Given the description of an element on the screen output the (x, y) to click on. 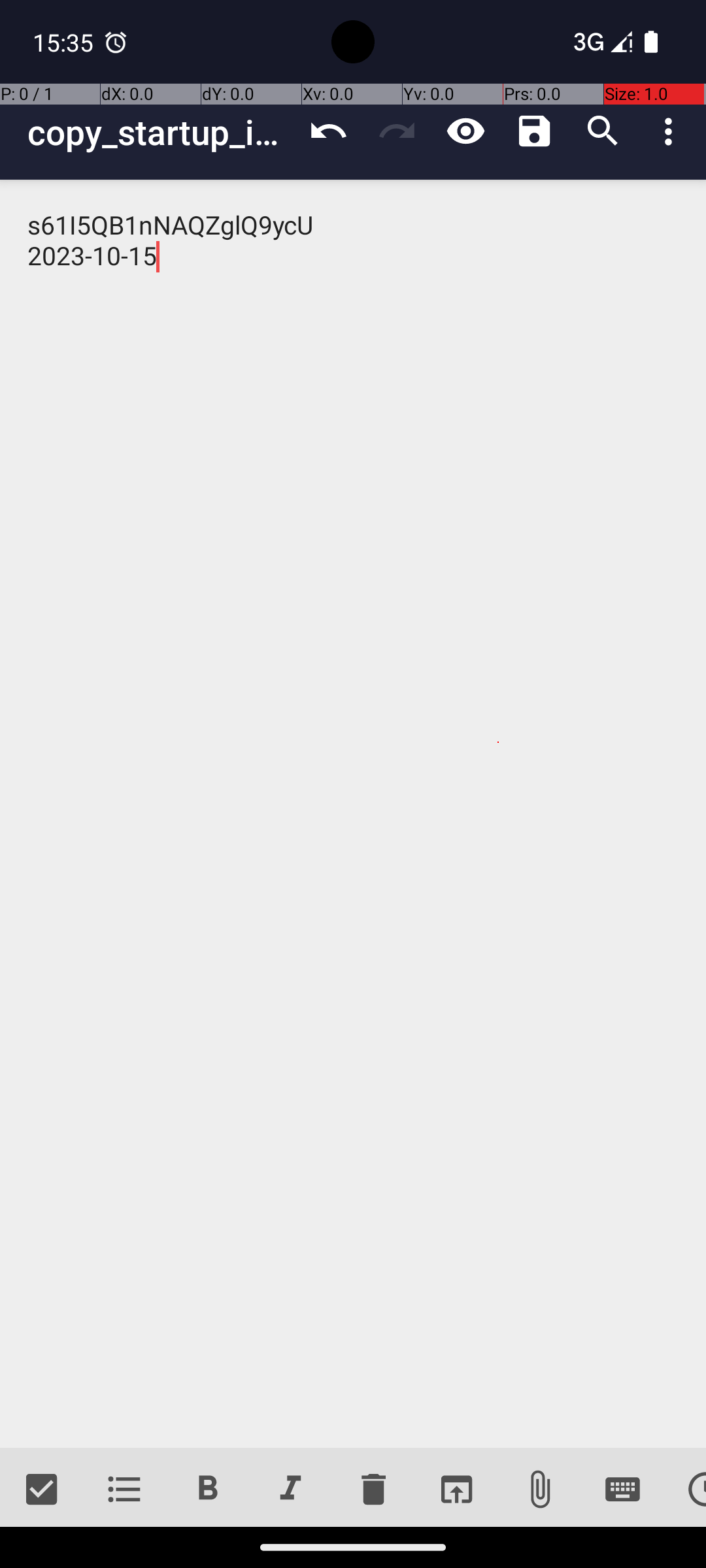
copy_startup_ideas_launch Element type: android.widget.TextView (160, 131)
s61I5QB1nNAQZglQ9ycU
2023-10-15 Element type: android.widget.EditText (353, 813)
